Given the description of an element on the screen output the (x, y) to click on. 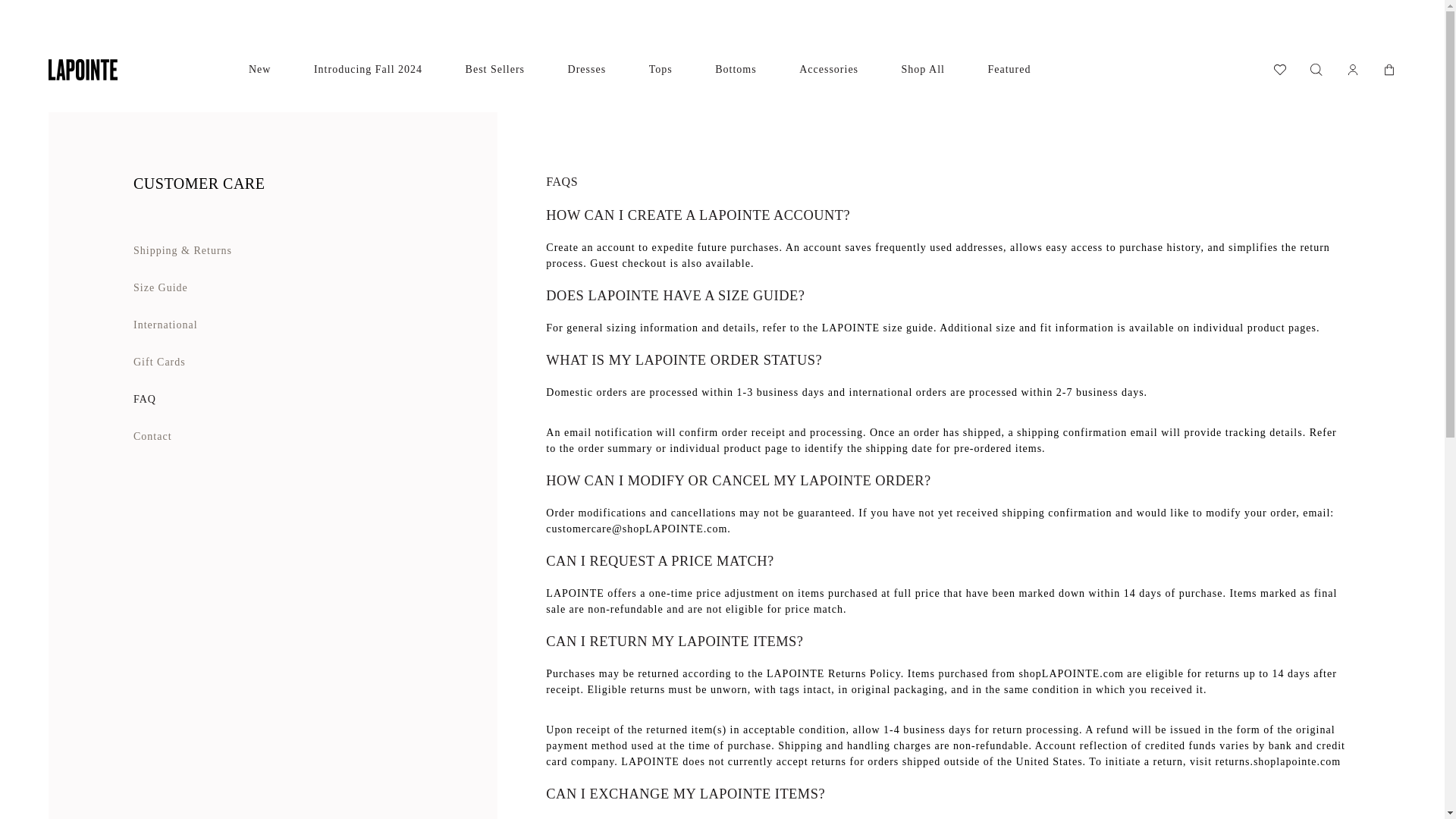
Best Sellers (495, 69)
Bottoms (734, 69)
Dresses (587, 69)
Accessories (829, 69)
Introducing Fall 2024 (368, 69)
Tops (660, 69)
New (259, 69)
